Given the description of an element on the screen output the (x, y) to click on. 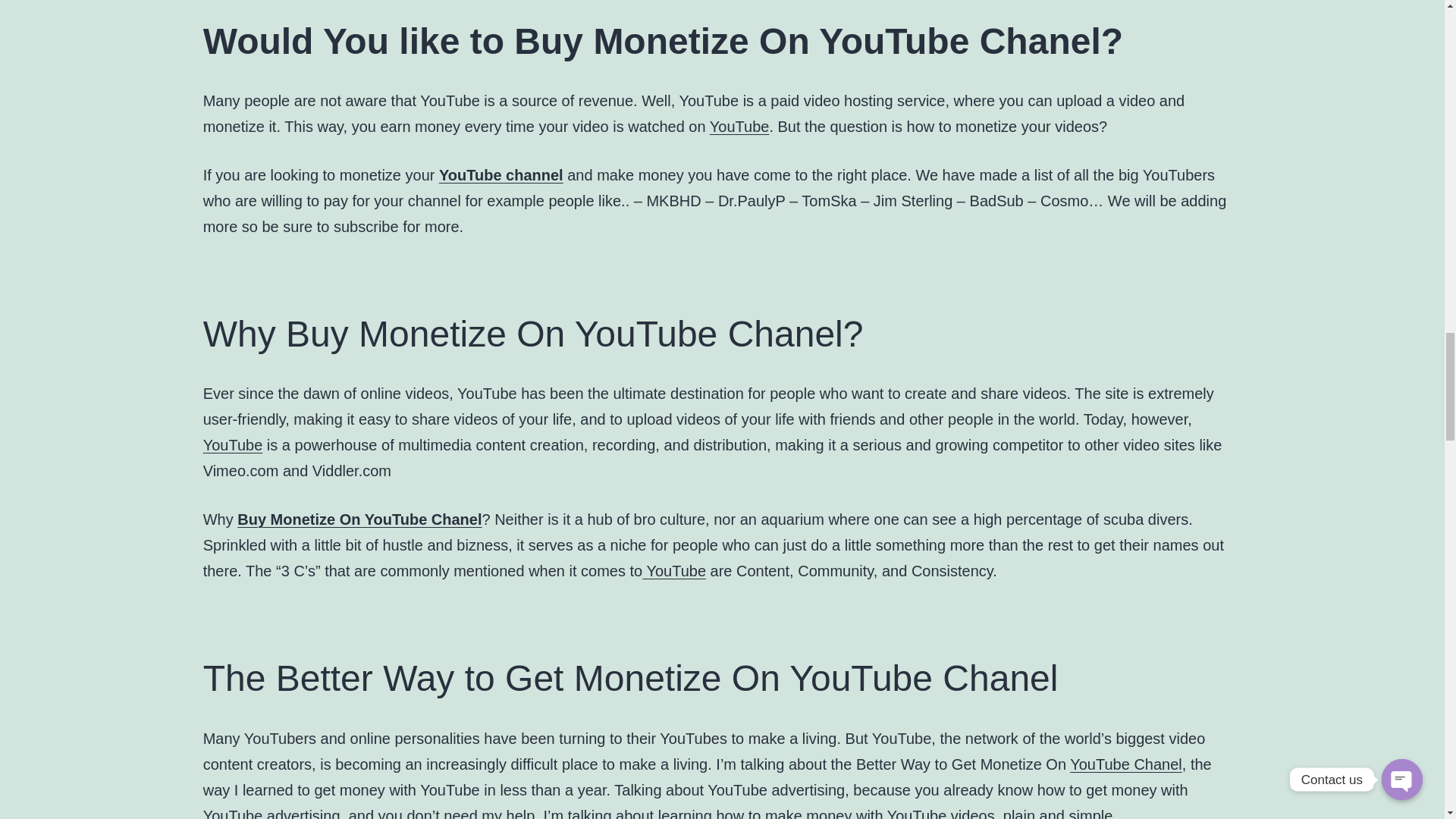
YouTube Chanel (1126, 764)
YouTube (233, 444)
YouTube (740, 126)
YouTube (674, 570)
YouTube channel (501, 175)
Buy Monetize On YouTube Chanel (359, 519)
YouTube (233, 813)
